Given the description of an element on the screen output the (x, y) to click on. 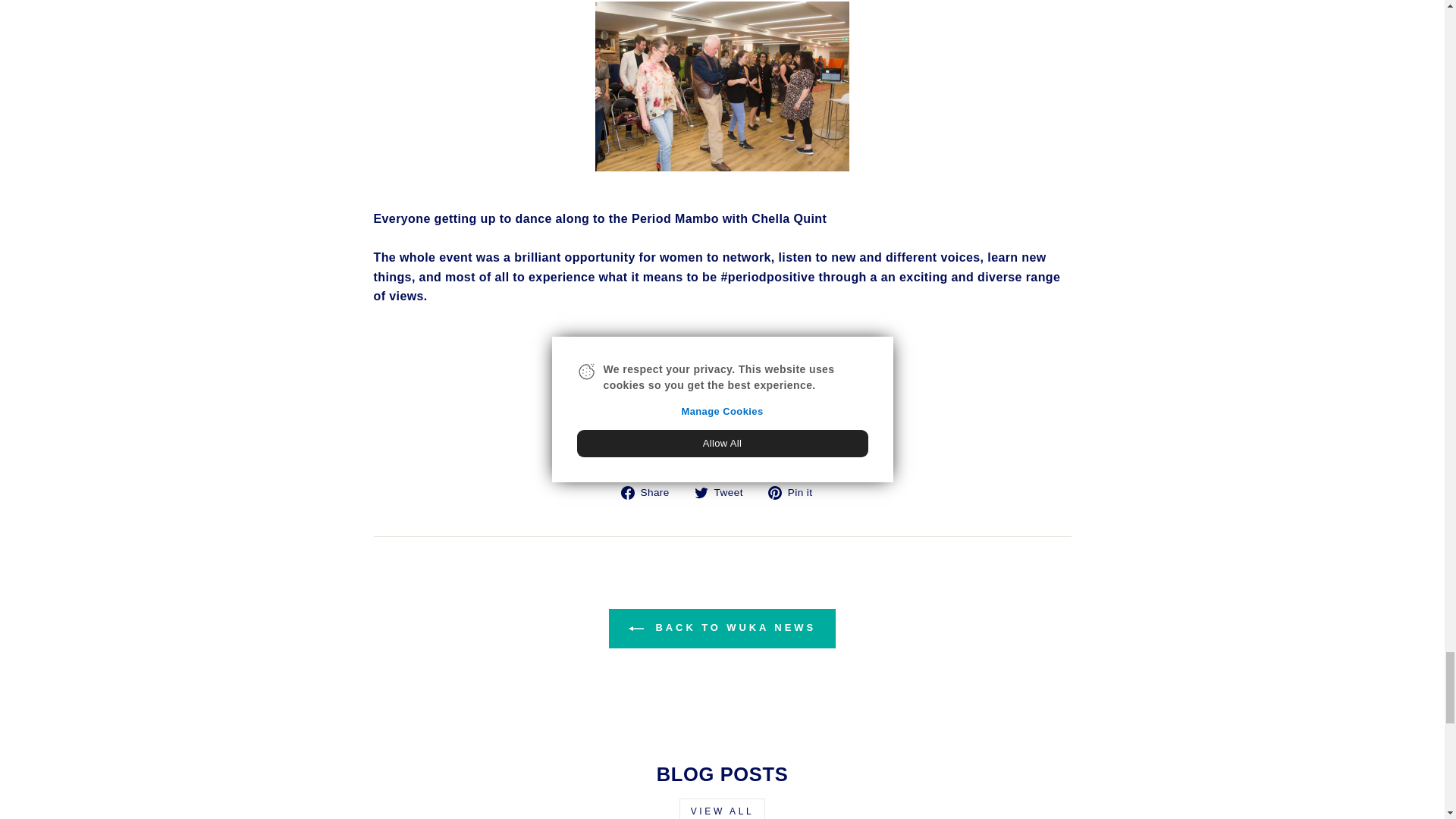
Tweet on Twitter (724, 492)
Pin on Pinterest (796, 492)
Share on Facebook (651, 492)
